Given the description of an element on the screen output the (x, y) to click on. 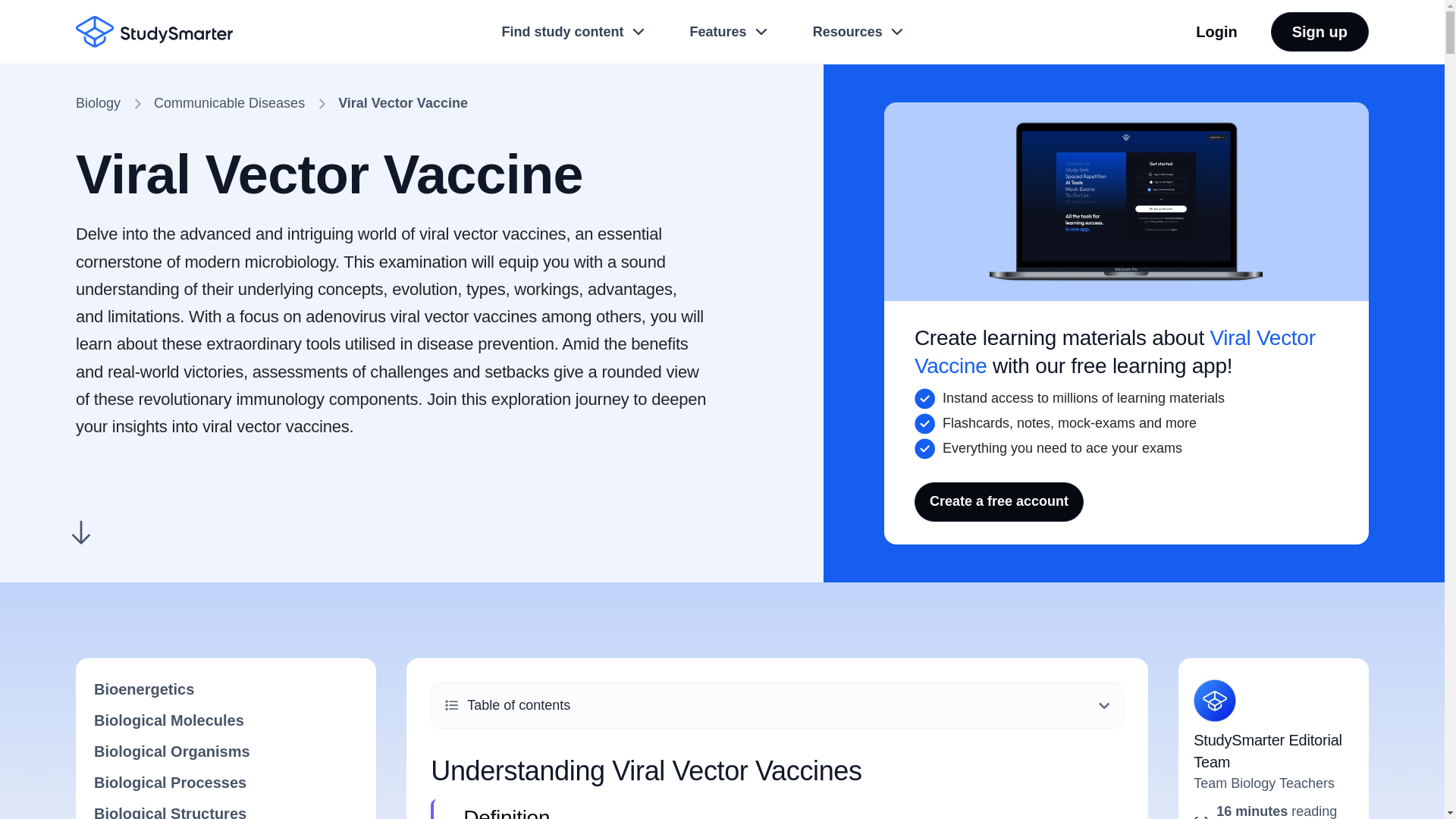
Find study content (574, 31)
Features (730, 31)
Biology (97, 103)
Communicable Diseases (229, 103)
